Given the description of an element on the screen output the (x, y) to click on. 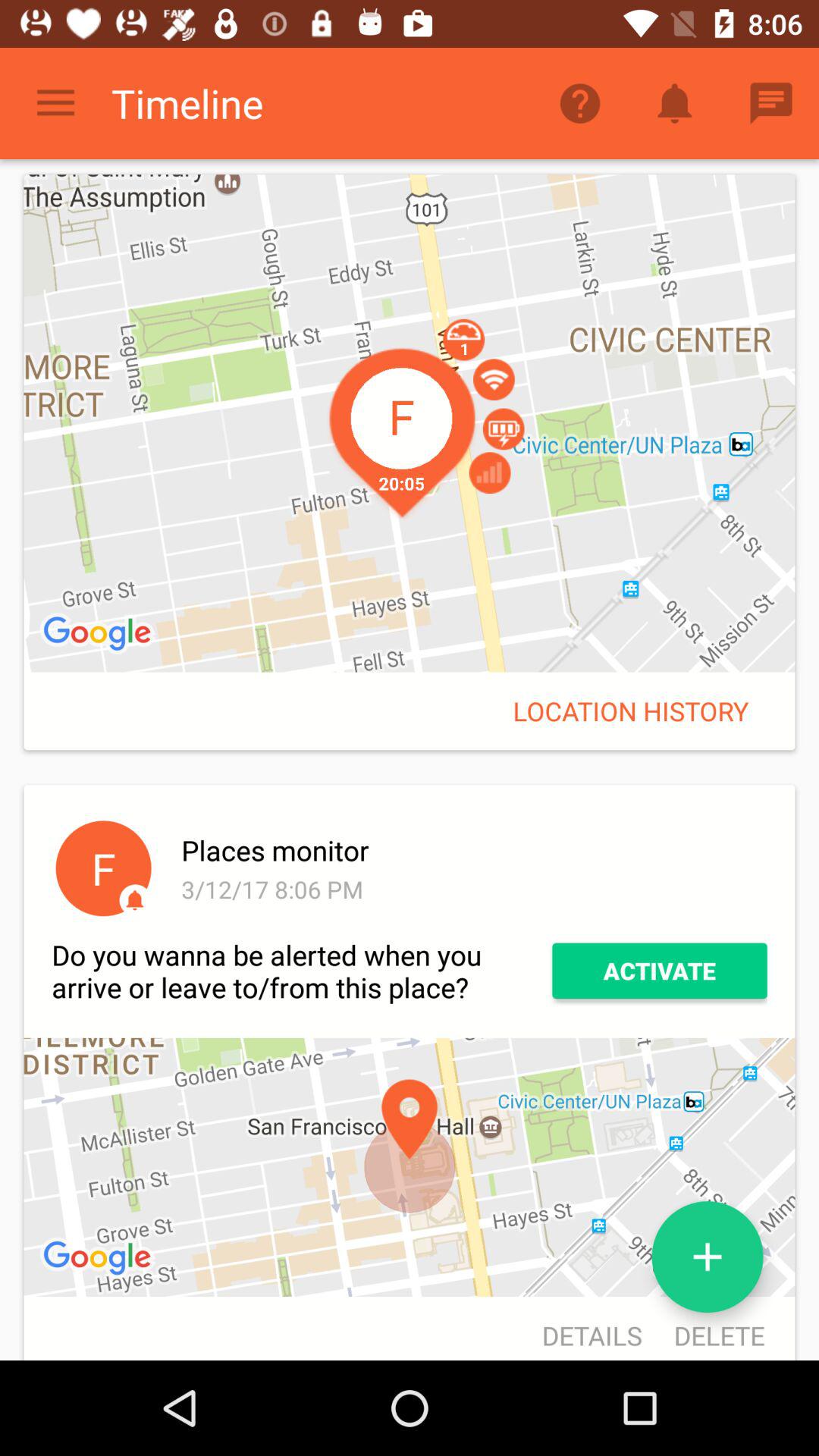
scroll until the details (592, 1330)
